Given the description of an element on the screen output the (x, y) to click on. 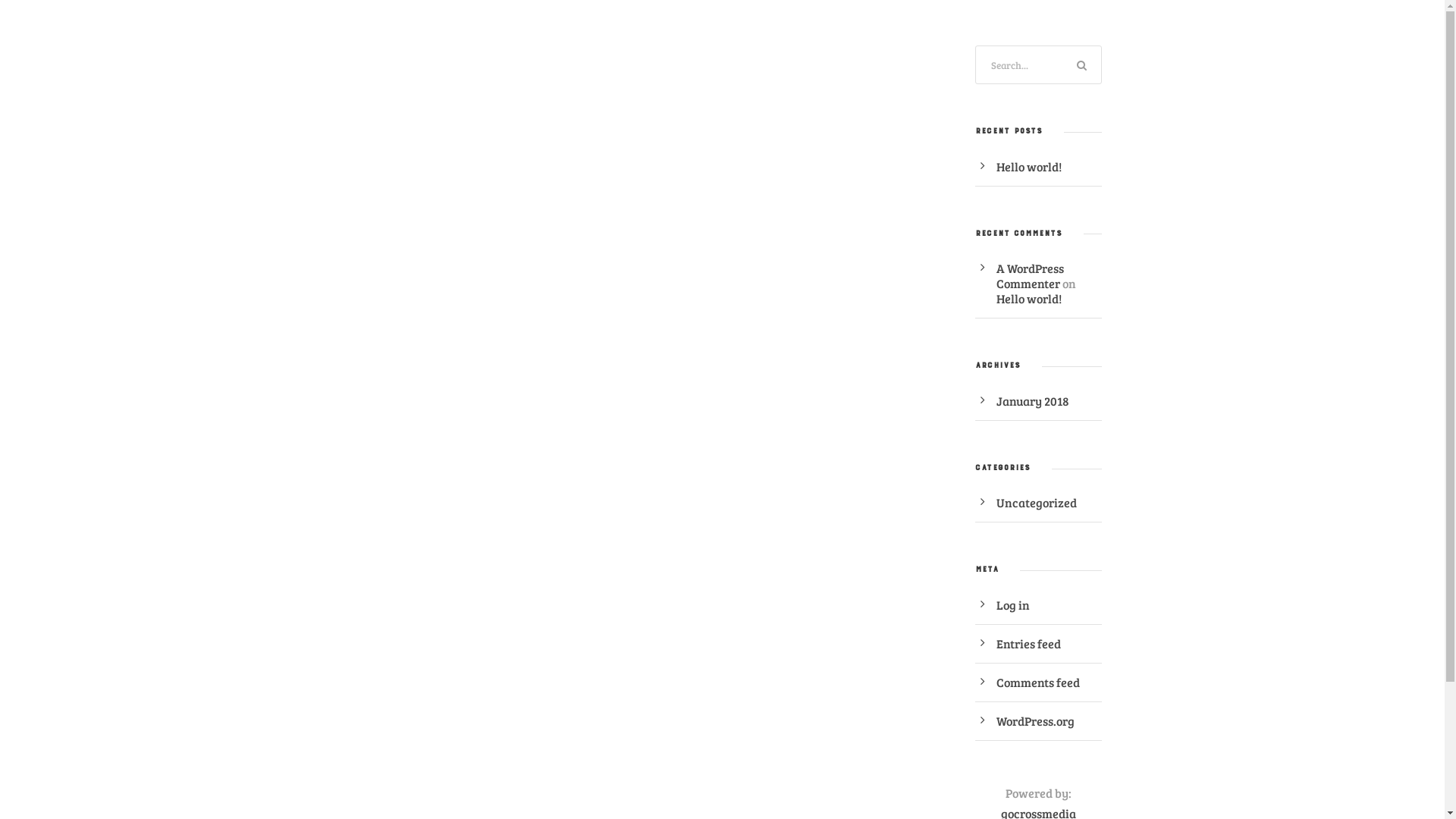
WordPress.org Element type: text (1035, 720)
SALES Element type: text (852, 59)
STALLIONS Element type: text (635, 59)
HOME Element type: text (511, 59)
CONTACT Element type: text (914, 59)
Search Element type: text (1082, 64)
BREEDING Element type: text (1395, 49)
January 2018 Element type: text (1032, 400)
Hello world! Element type: text (1028, 298)
Entries feed Element type: text (1028, 643)
Uncategorized Element type: text (1036, 502)
A WordPress Commenter Element type: text (1029, 275)
MARES Element type: text (795, 59)
Log in Element type: text (1012, 604)
Comments feed Element type: text (1037, 682)
Hello world! Element type: text (1028, 166)
ABOUT Element type: text (565, 59)
